Given the description of an element on the screen output the (x, y) to click on. 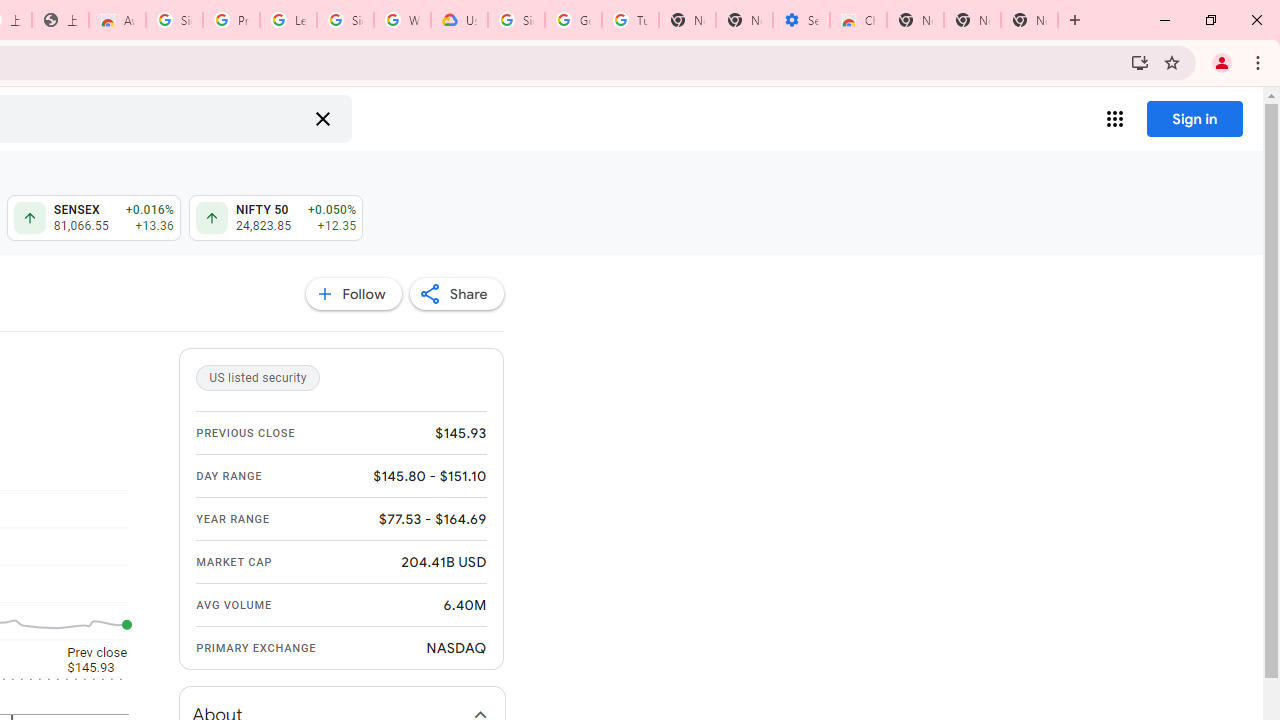
New Tab (1029, 20)
Settings - Accessibility (801, 20)
Share (456, 293)
Awesome Screen Recorder & Screenshot - Chrome Web Store (116, 20)
Turn cookies on or off - Computer - Google Account Help (630, 20)
Clear search (322, 118)
Install Google Finance (1139, 62)
Sign in - Google Accounts (174, 20)
